Given the description of an element on the screen output the (x, y) to click on. 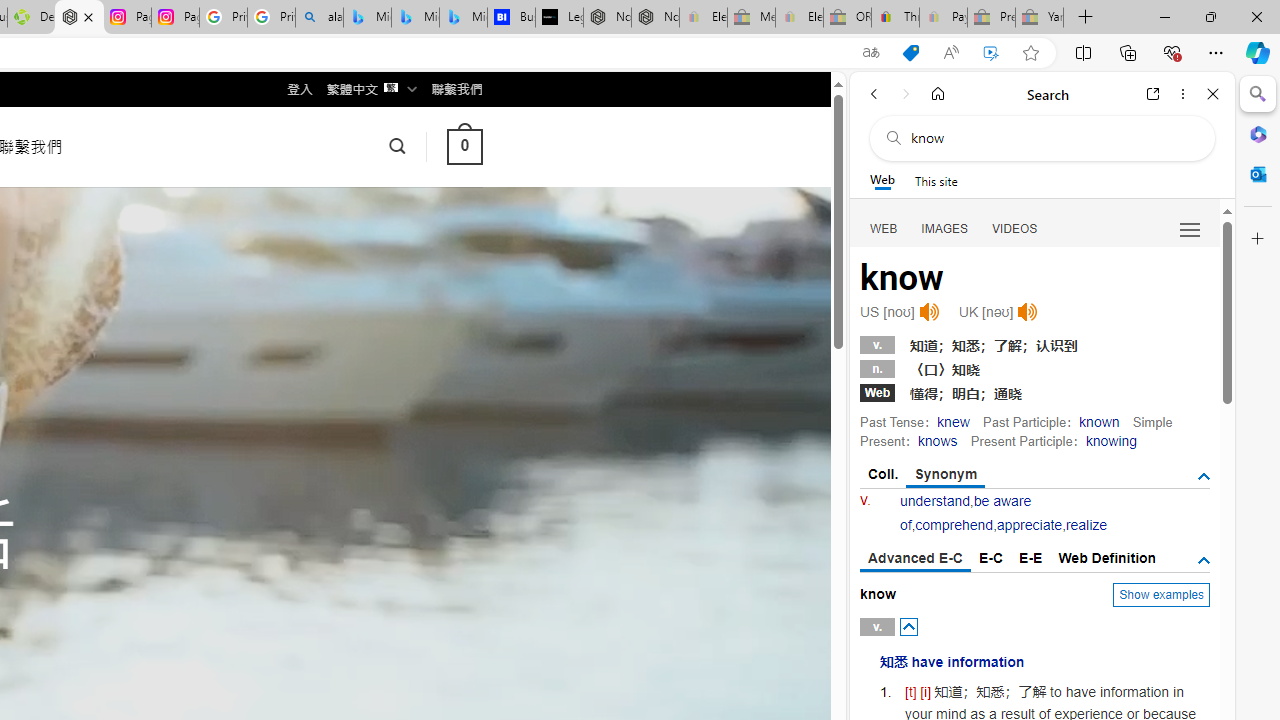
appreciate (1028, 524)
Press Room - eBay Inc. - Sleeping (991, 17)
Microsoft Bing Travel - Shangri-La Hotel Bangkok (463, 17)
E-C (991, 557)
knowing (1110, 440)
Search Filter, VIDEOS (1015, 228)
Search the web (1051, 137)
be aware of (965, 512)
This site scope (936, 180)
  0   (464, 146)
 0  (464, 146)
